Given the description of an element on the screen output the (x, y) to click on. 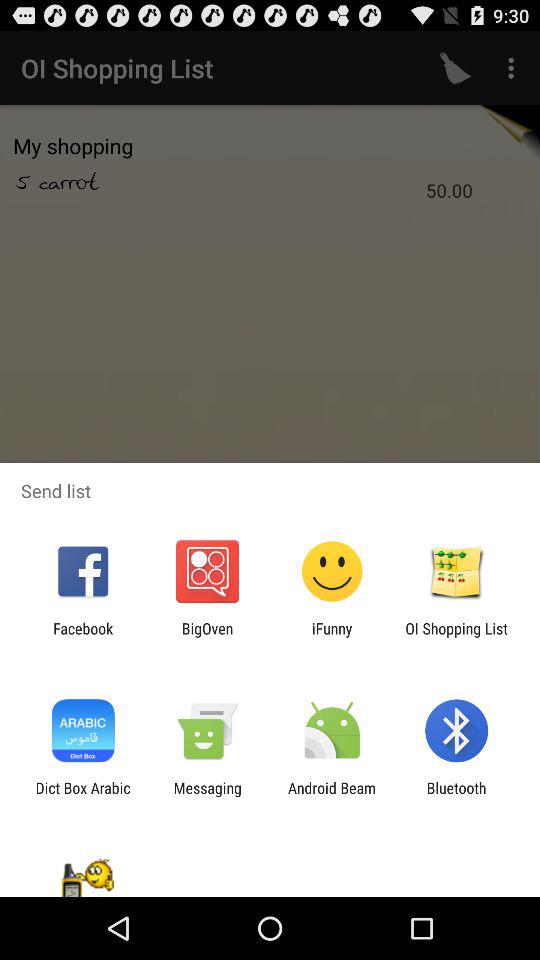
turn off the item next to ifunny app (207, 637)
